Given the description of an element on the screen output the (x, y) to click on. 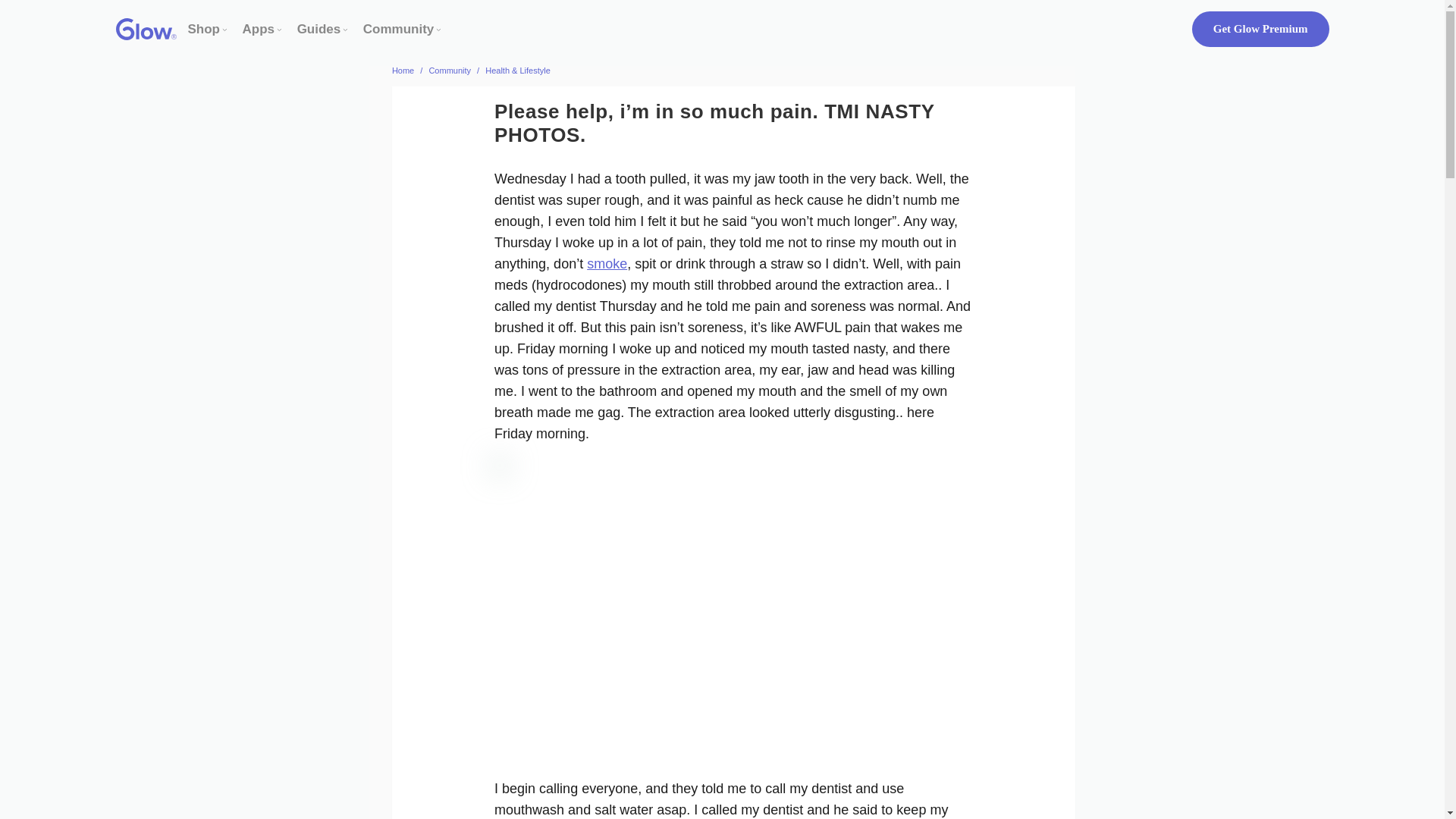
Glow Community (397, 28)
Shop (204, 28)
Glow Shop (204, 28)
Apps (259, 28)
Community (397, 28)
Guides (318, 28)
